Given the description of an element on the screen output the (x, y) to click on. 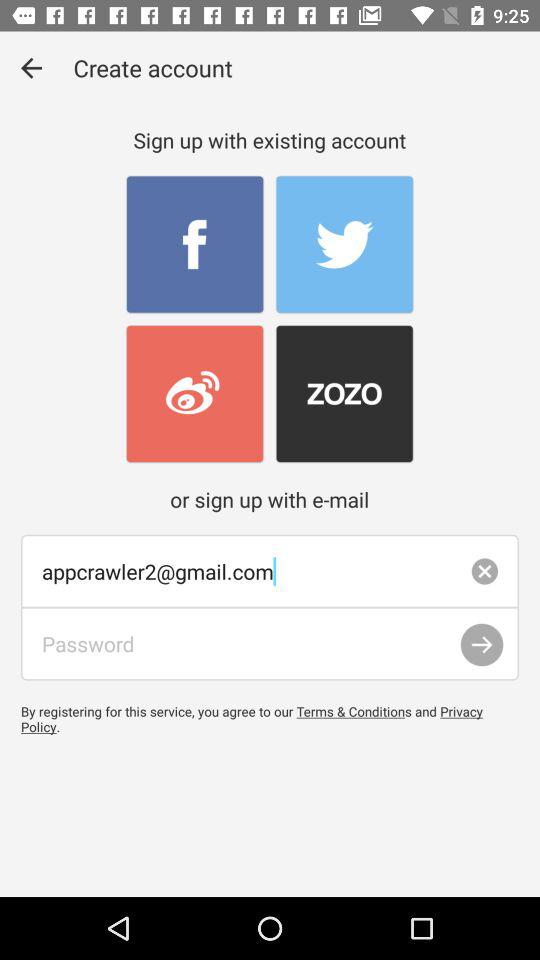
sign up with facebook (194, 244)
